Given the description of an element on the screen output the (x, y) to click on. 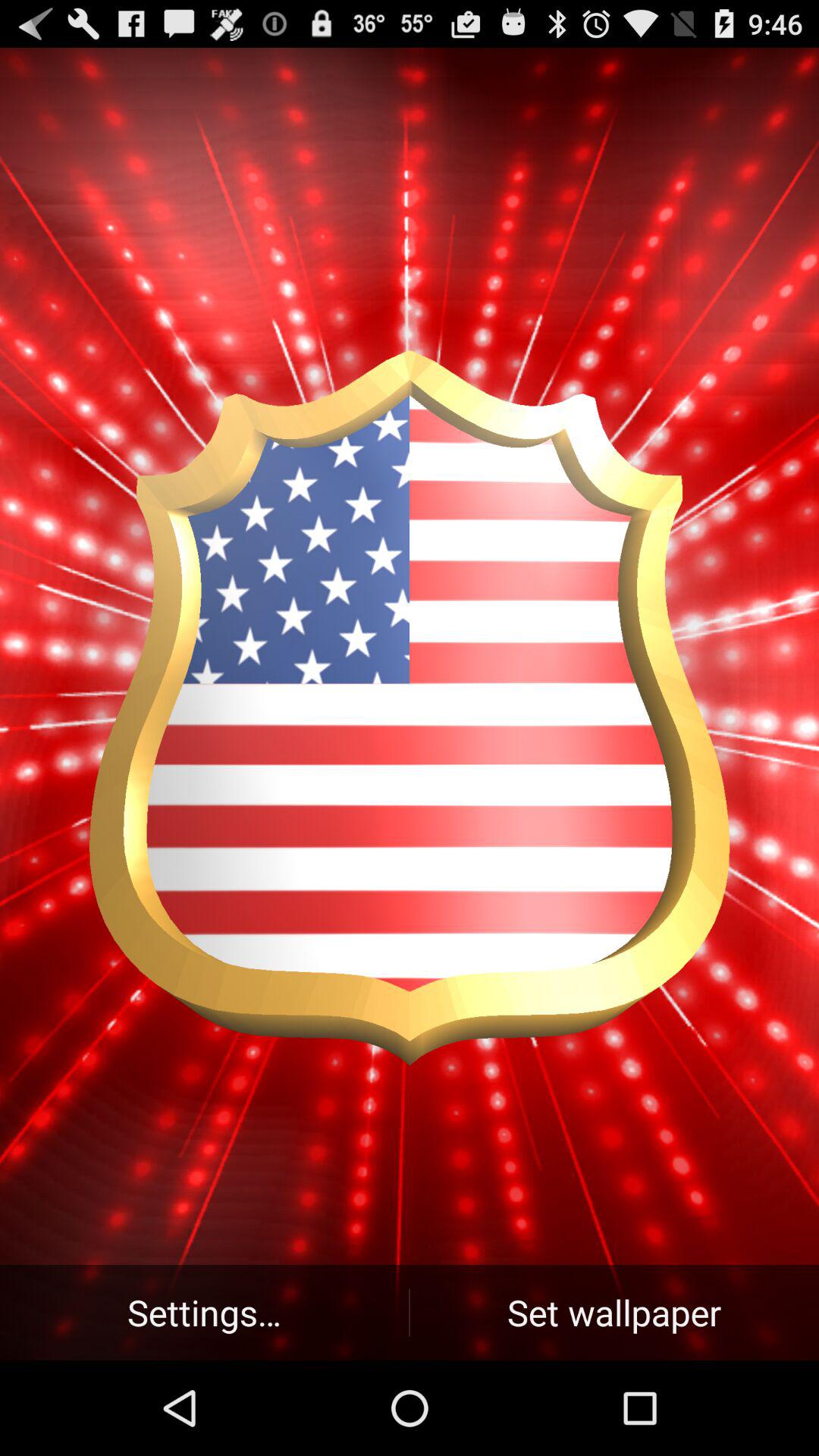
turn off button at the bottom left corner (204, 1312)
